Given the description of an element on the screen output the (x, y) to click on. 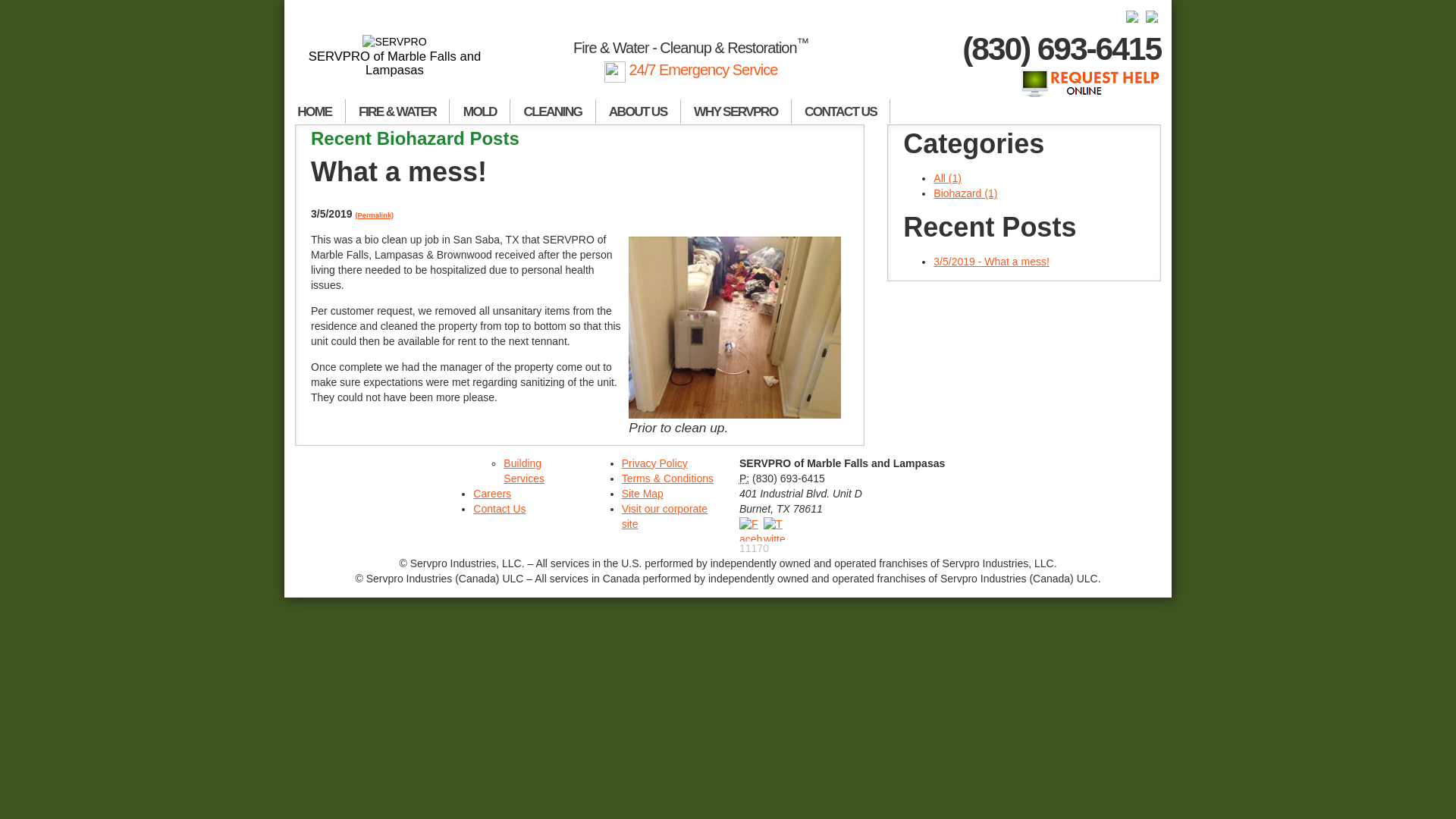
SERVPRO of Marble Falls and Lampasas (395, 55)
ABOUT US (638, 111)
CLEANING (553, 111)
MOLD (480, 111)
HOME (314, 111)
